Given the description of an element on the screen output the (x, y) to click on. 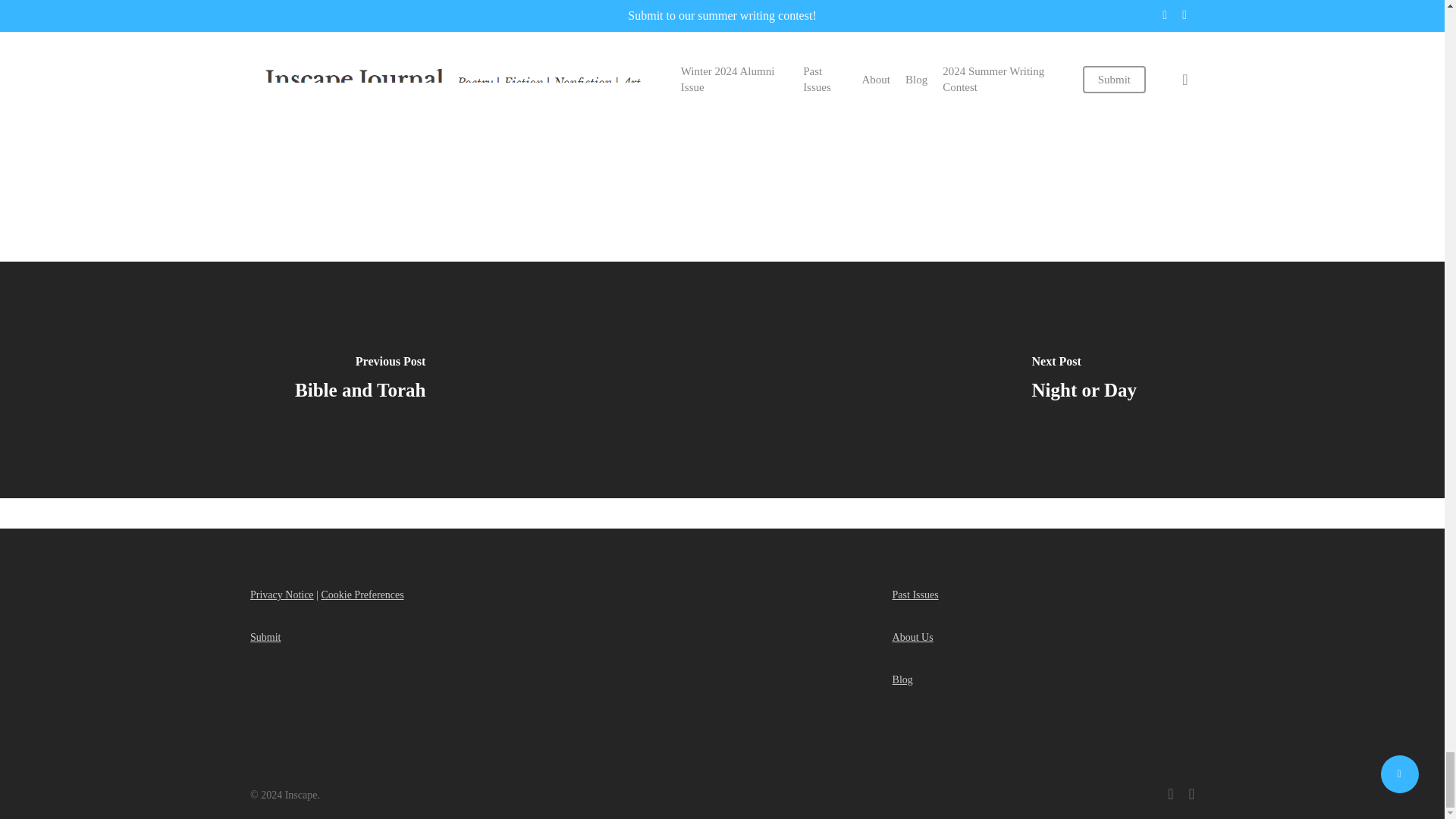
Cookie Preferences (361, 594)
Privacy Notice (282, 594)
About Us (912, 636)
linkedin (1170, 793)
Submit (265, 636)
Blog (902, 679)
Past Issues (915, 594)
instagram (1191, 793)
